Given the description of an element on the screen output the (x, y) to click on. 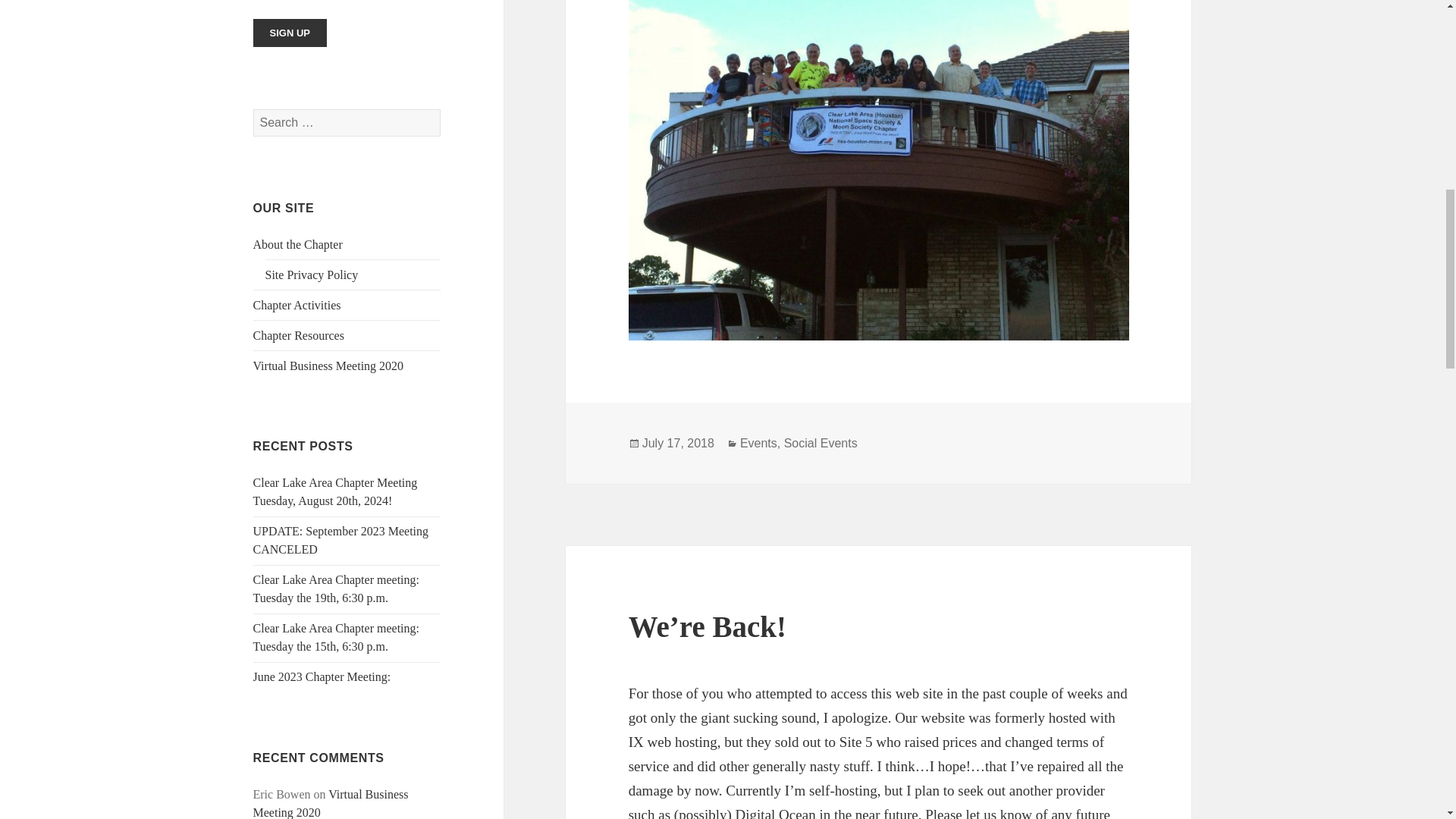
Chapter Resources (298, 335)
Clear Lake Area Chapter meeting: Tuesday the 19th, 6:30 p.m. (336, 588)
Virtual Business Meeting 2020 (328, 365)
About the Chapter (297, 244)
June 2023 Chapter Meeting: (322, 676)
UPDATE: September 2023 Meeting CANCELED (341, 540)
Sign up (336, 636)
